Given the description of an element on the screen output the (x, y) to click on. 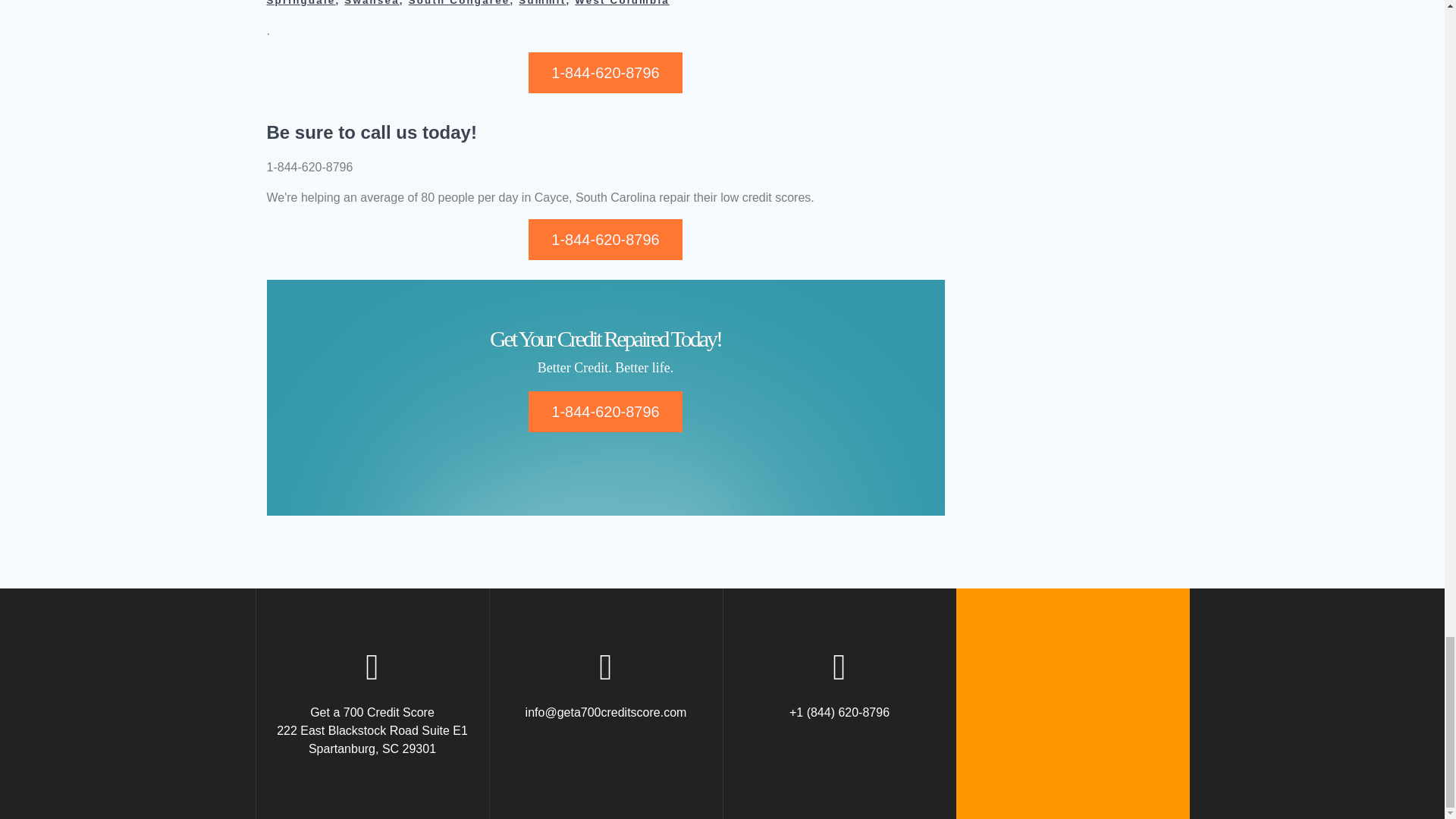
Springdale (301, 2)
South Congaree (460, 2)
Swansea (370, 2)
1-844-620-8796 (604, 239)
1-844-620-8796 (604, 411)
West Columbia (622, 2)
1-844-620-8796 (604, 72)
Summit (542, 2)
